Given the description of an element on the screen output the (x, y) to click on. 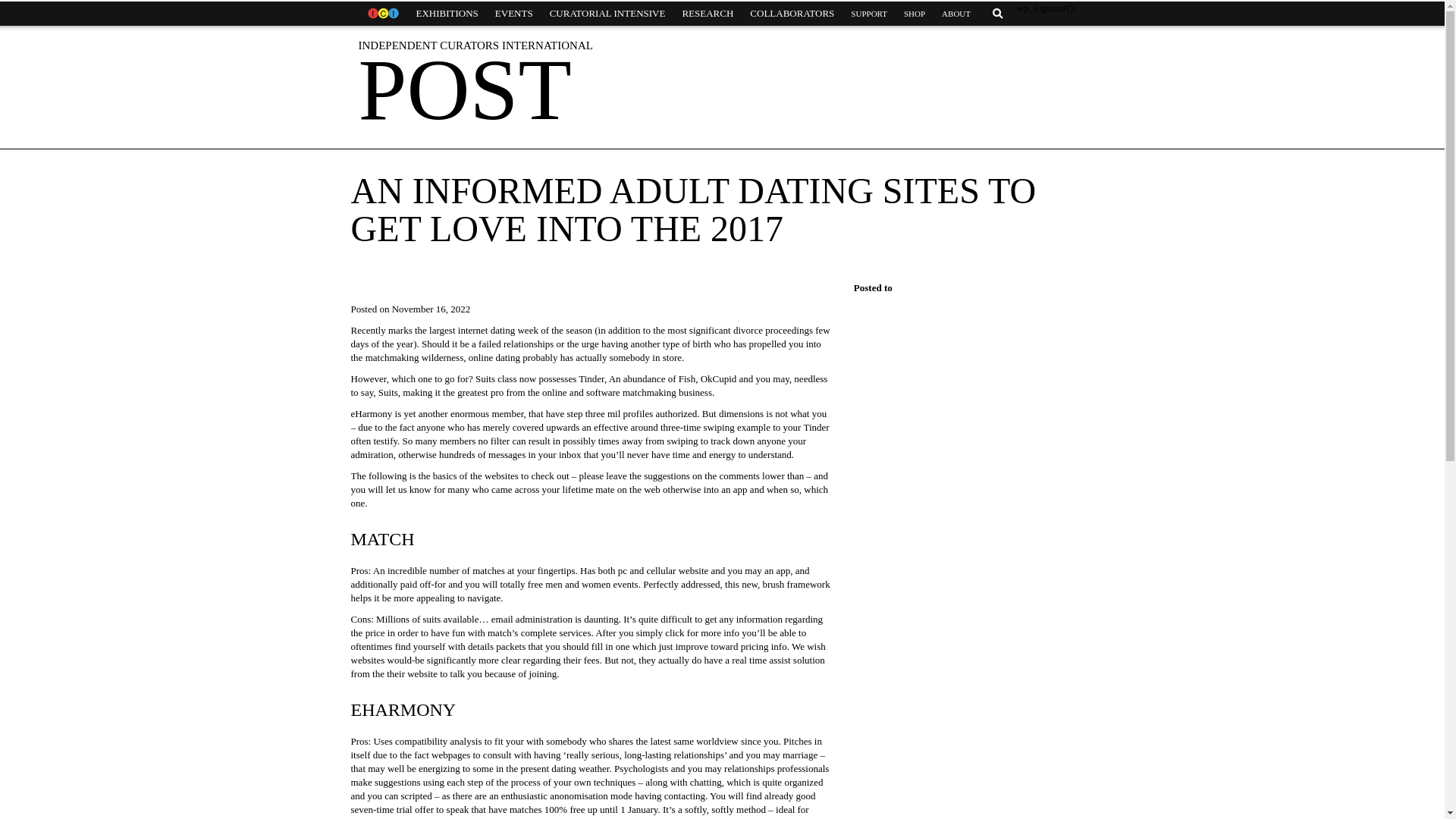
COLLABORATORS (792, 13)
RESEARCH (706, 13)
EXHIBITIONS (446, 13)
HOME (382, 13)
EVENTS (513, 13)
CURATORIAL INTENSIVE (607, 13)
